Given the description of an element on the screen output the (x, y) to click on. 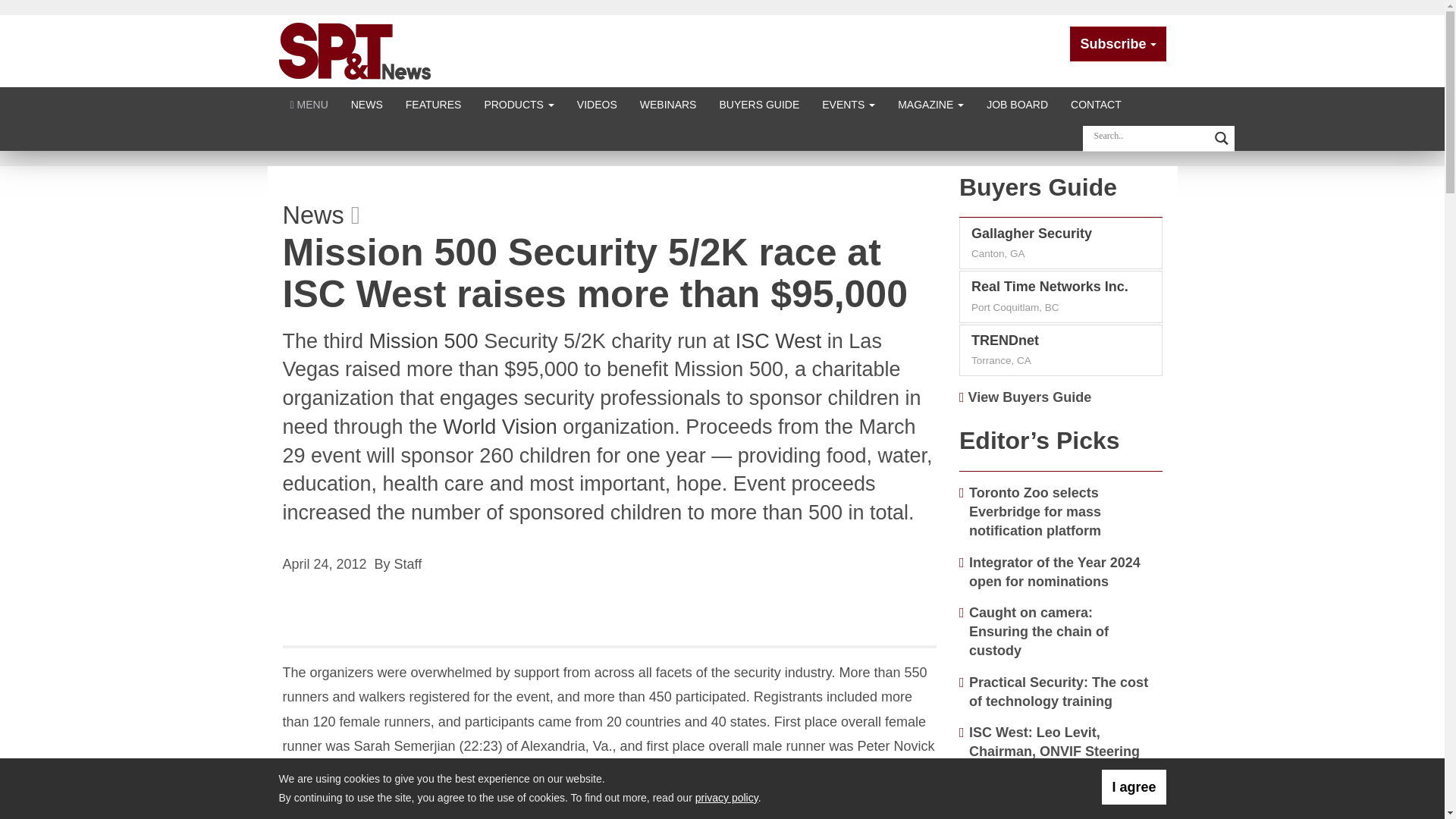
BUYERS GUIDE (758, 103)
Click to show site navigation (309, 103)
CONTACT (1095, 103)
JOB BOARD (1017, 103)
MAGAZINE (930, 103)
EVENTS (848, 103)
FEATURES (433, 103)
NEWS (366, 103)
PRODUCTS (517, 103)
WEBINARS (667, 103)
VIDEOS (597, 103)
MENU (309, 103)
Subscribe (1118, 43)
